Given the description of an element on the screen output the (x, y) to click on. 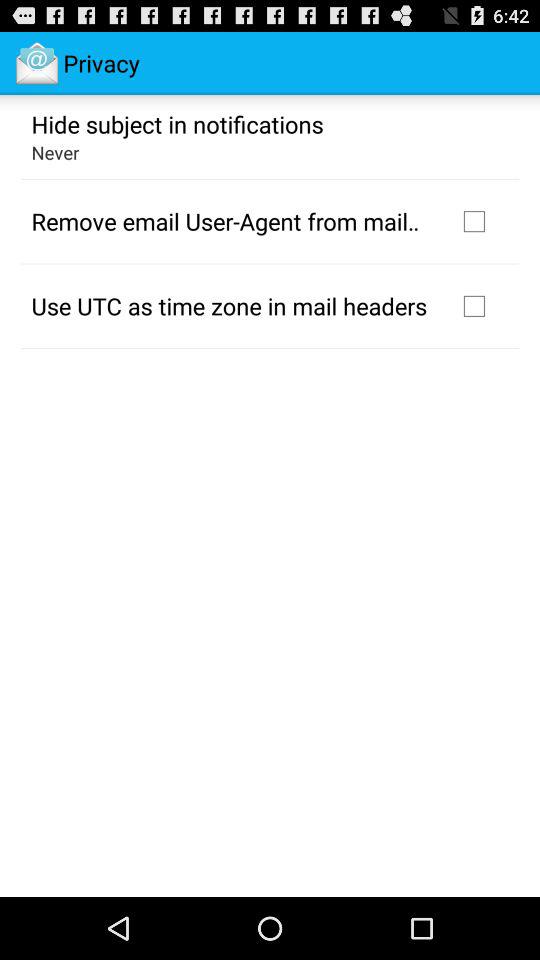
press the use utc as item (229, 305)
